Given the description of an element on the screen output the (x, y) to click on. 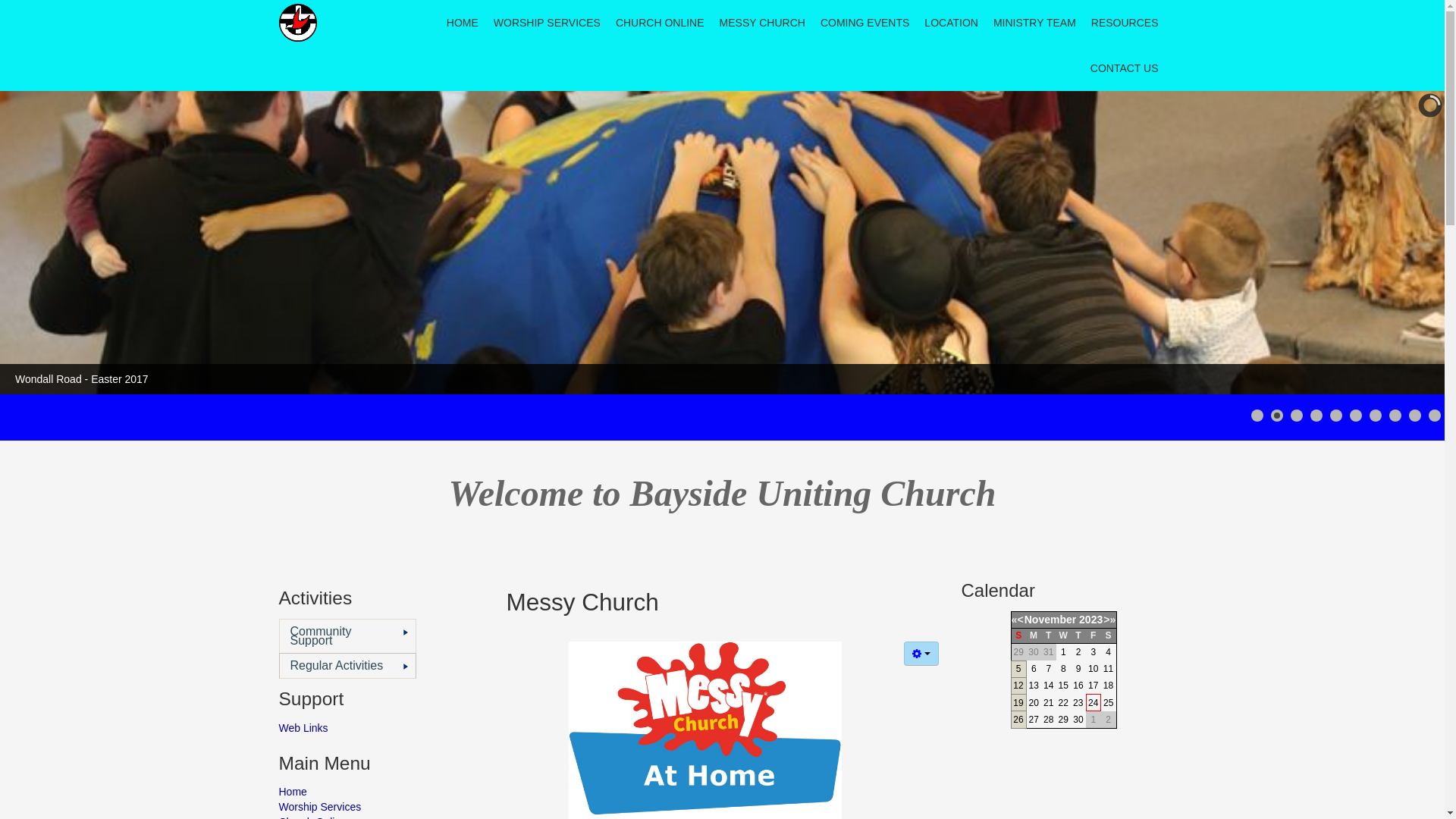
Worship Services Element type: text (381, 806)
15 Element type: text (1063, 685)
5 Element type: text (1018, 668)
7 Element type: text (1048, 668)
HOME Element type: text (462, 22)
21 Element type: text (1048, 702)
3 Element type: text (1092, 651)
4 Element type: text (1107, 651)
17 Element type: text (1093, 685)
13 Element type: text (1033, 685)
6 Element type: text (1033, 668)
14 Element type: text (1048, 685)
WORSHIP SERVICES Element type: text (546, 22)
8 Element type: text (1063, 668)
26 Element type: text (1017, 719)
RESOURCES Element type: text (1124, 22)
CONTACT US Element type: text (1124, 68)
MINISTRY TEAM Element type: text (1034, 22)
COMING EVENTS Element type: text (864, 22)
19 Element type: text (1017, 702)
MESSY CHURCH Element type: text (762, 22)
18 Element type: text (1108, 685)
16 Element type: text (1077, 685)
CHURCH ONLINE Element type: text (659, 22)
25 Element type: text (1108, 702)
29 Element type: text (1063, 719)
Regular Activities Element type: text (347, 665)
27 Element type: text (1033, 719)
Home Element type: text (381, 791)
10 Element type: text (1093, 668)
November Element type: text (1050, 619)
1 Element type: text (1063, 651)
2023 Element type: text (1090, 619)
28 Element type: text (1048, 719)
9 Element type: text (1078, 668)
24 Element type: text (1093, 702)
23 Element type: text (1077, 702)
30 Element type: text (1077, 719)
22 Element type: text (1063, 702)
12 Element type: text (1017, 685)
20 Element type: text (1033, 702)
Community Support Element type: text (347, 635)
LOCATION Element type: text (951, 22)
2 Element type: text (1078, 651)
Web Links Element type: text (381, 727)
11 Element type: text (1108, 668)
